Given the description of an element on the screen output the (x, y) to click on. 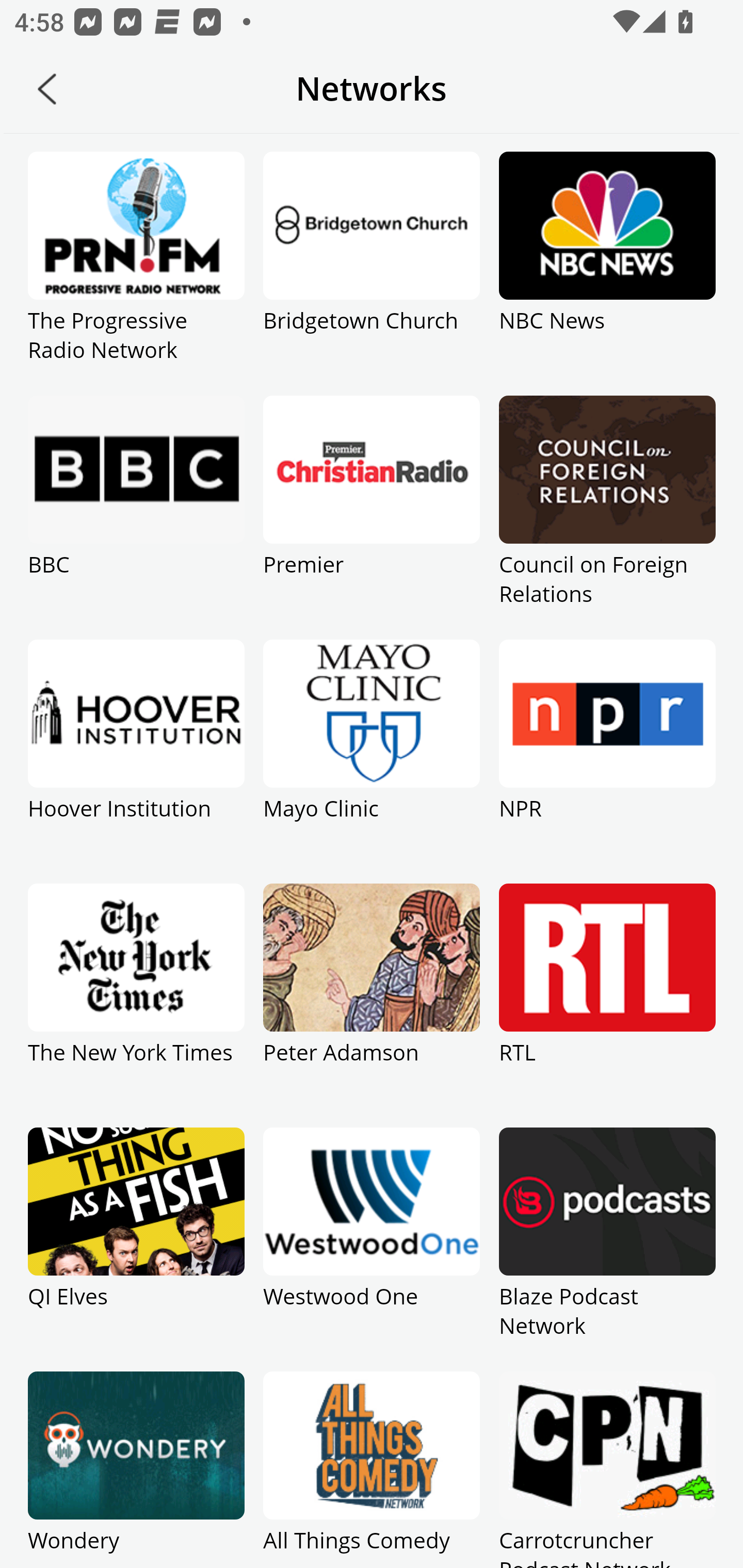
Back (46, 88)
The Progressive Radio Network (135, 273)
Bridgetown Church (371, 273)
NBC News (606, 273)
BBC (135, 517)
Premier (371, 517)
Council on Foreign Relations (606, 517)
Hoover Institution (135, 760)
Mayo Clinic (371, 760)
NPR (606, 760)
The New York Times (135, 1004)
Peter Adamson (371, 1004)
RTL (606, 1004)
QI Elves (135, 1249)
Westwood One (371, 1249)
Blaze Podcast Network (606, 1249)
Wondery (135, 1470)
All Things Comedy (371, 1470)
Carrotcruncher Podcast Network (606, 1470)
